Given the description of an element on the screen output the (x, y) to click on. 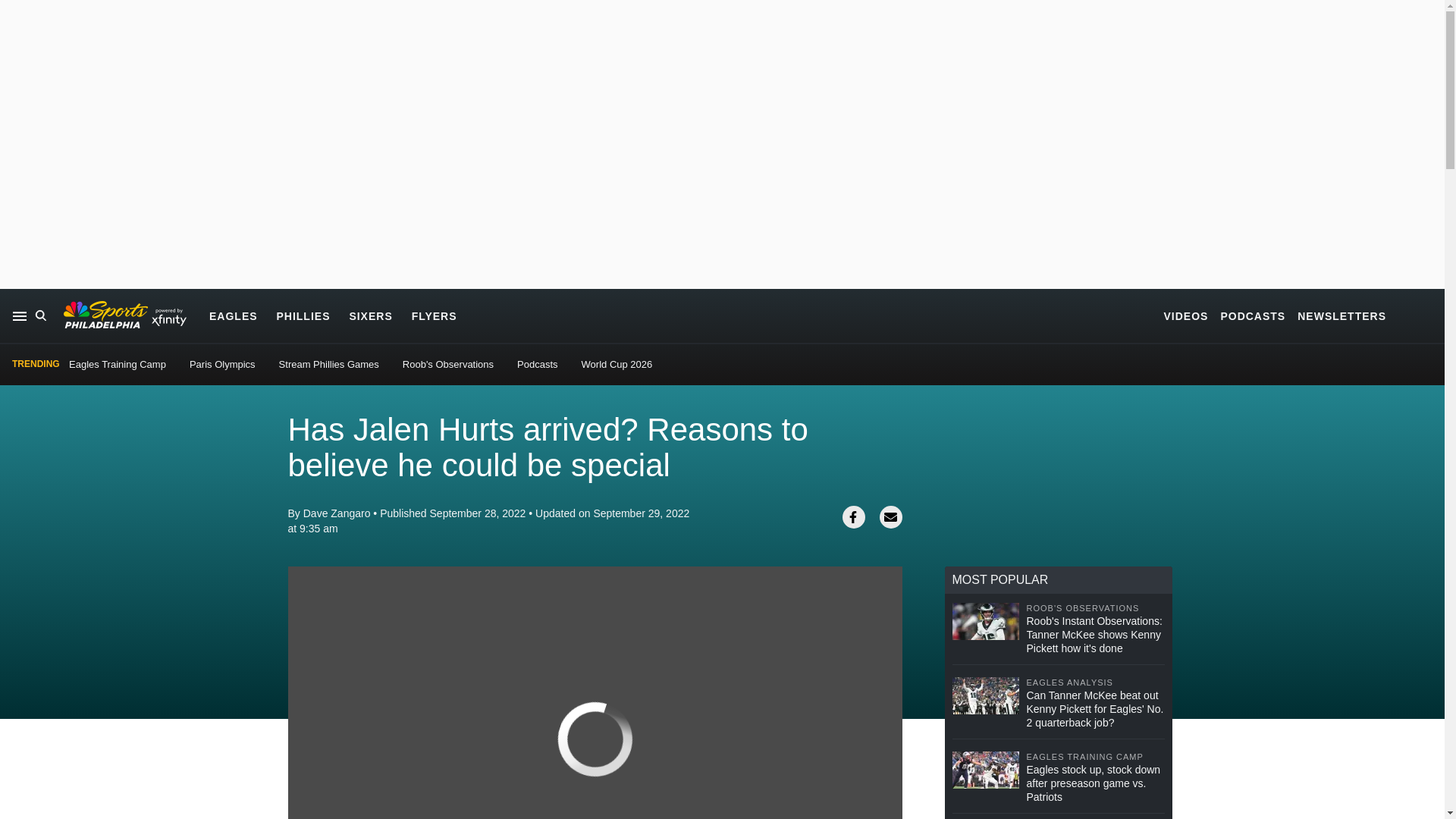
SIXERS (370, 315)
Dave Zangaro (336, 512)
Podcasts (536, 364)
Eagles Training Camp (116, 364)
VIDEOS (1185, 315)
FLYERS (434, 315)
PHILLIES (303, 315)
PODCASTS (1252, 315)
Paris Olympics (222, 364)
NEWSLETTERS (1341, 315)
